Given the description of an element on the screen output the (x, y) to click on. 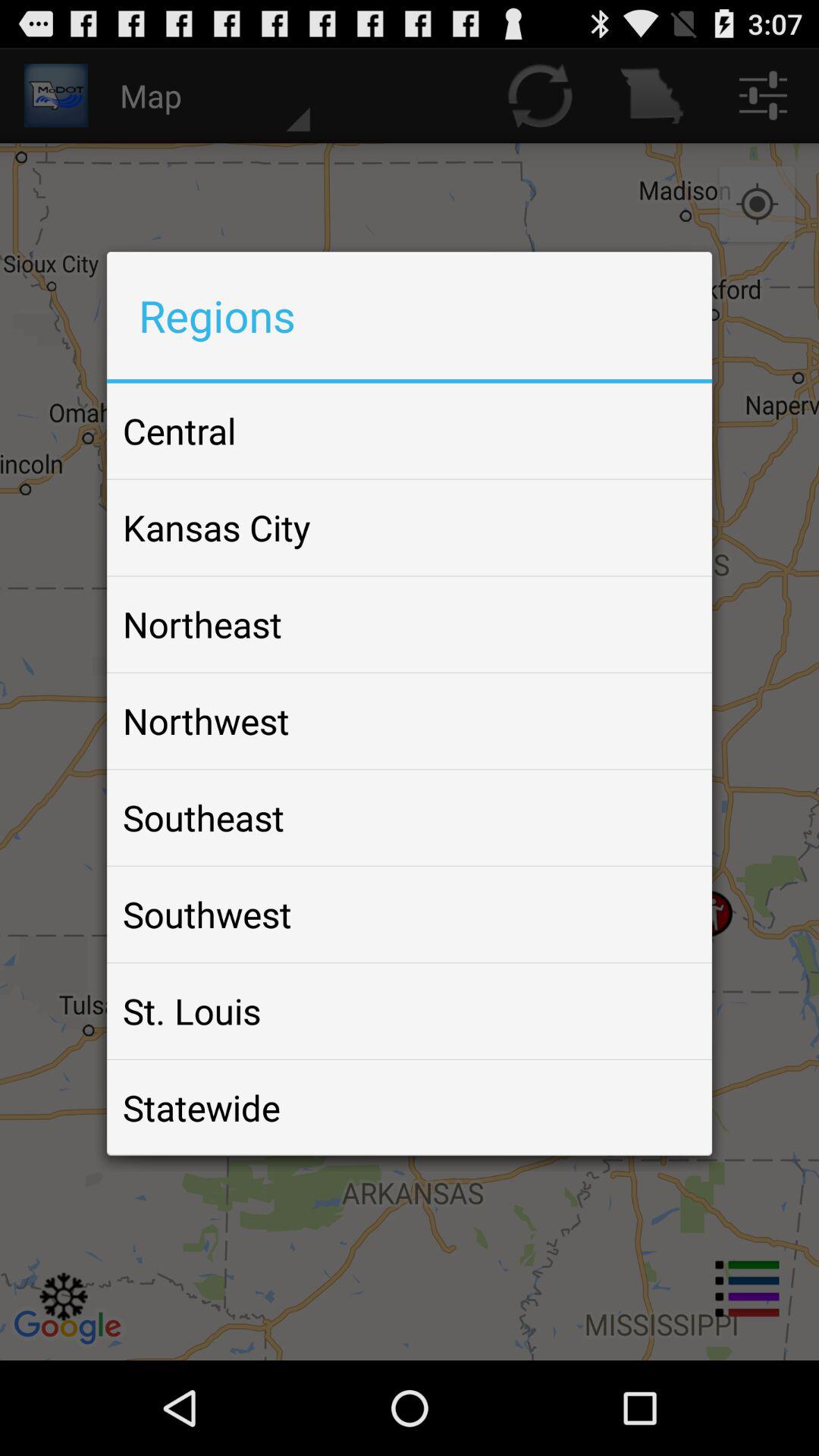
select the app next to the northwest (664, 720)
